Given the description of an element on the screen output the (x, y) to click on. 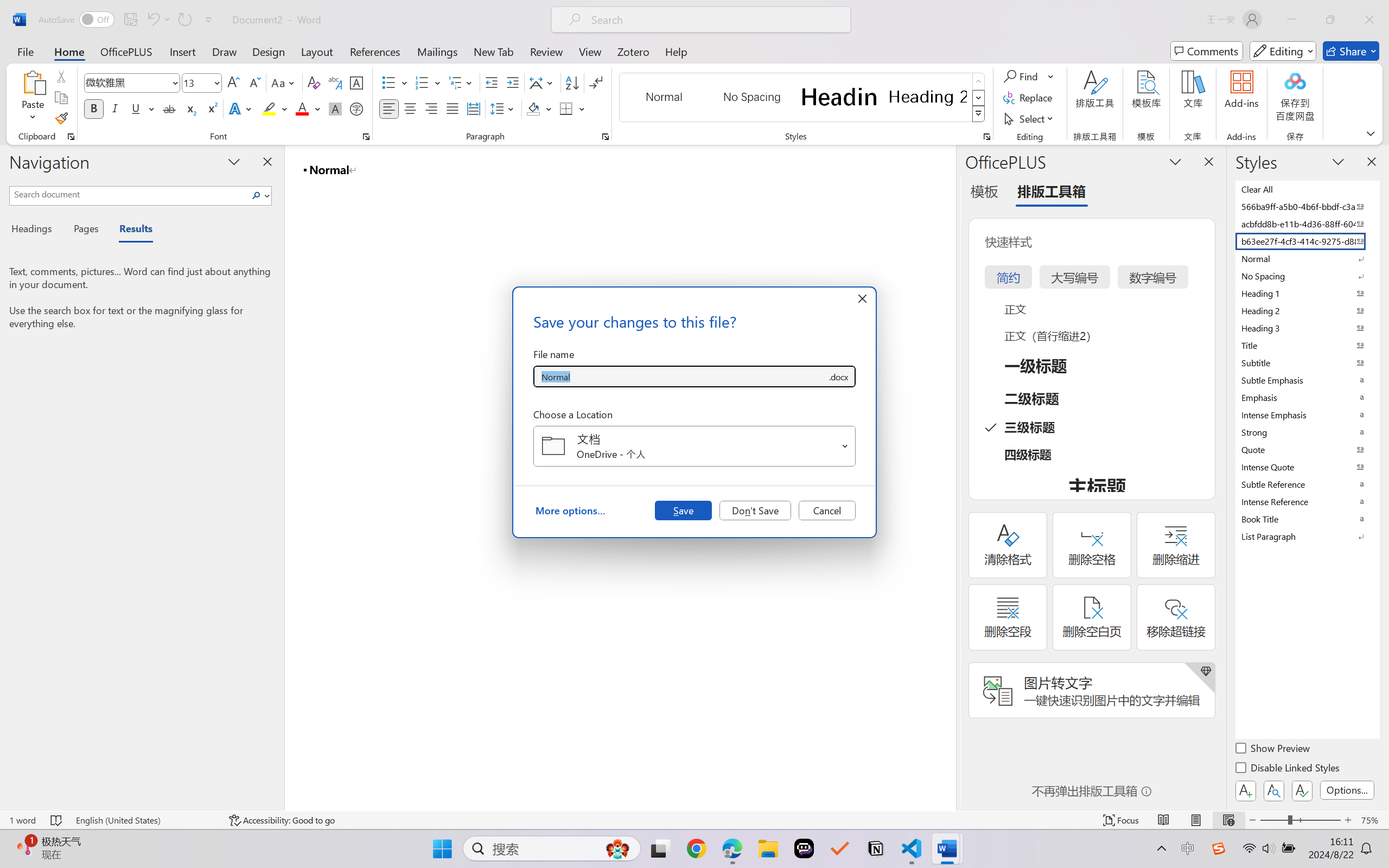
Align Right (431, 108)
Ribbon Display Options (1370, 132)
Font Color (308, 108)
Accessibility Checker Accessibility: Good to go (282, 819)
Office Clipboard... (70, 136)
New Tab (493, 51)
Class: MsoCommandBar (694, 819)
Justify (452, 108)
